Given the description of an element on the screen output the (x, y) to click on. 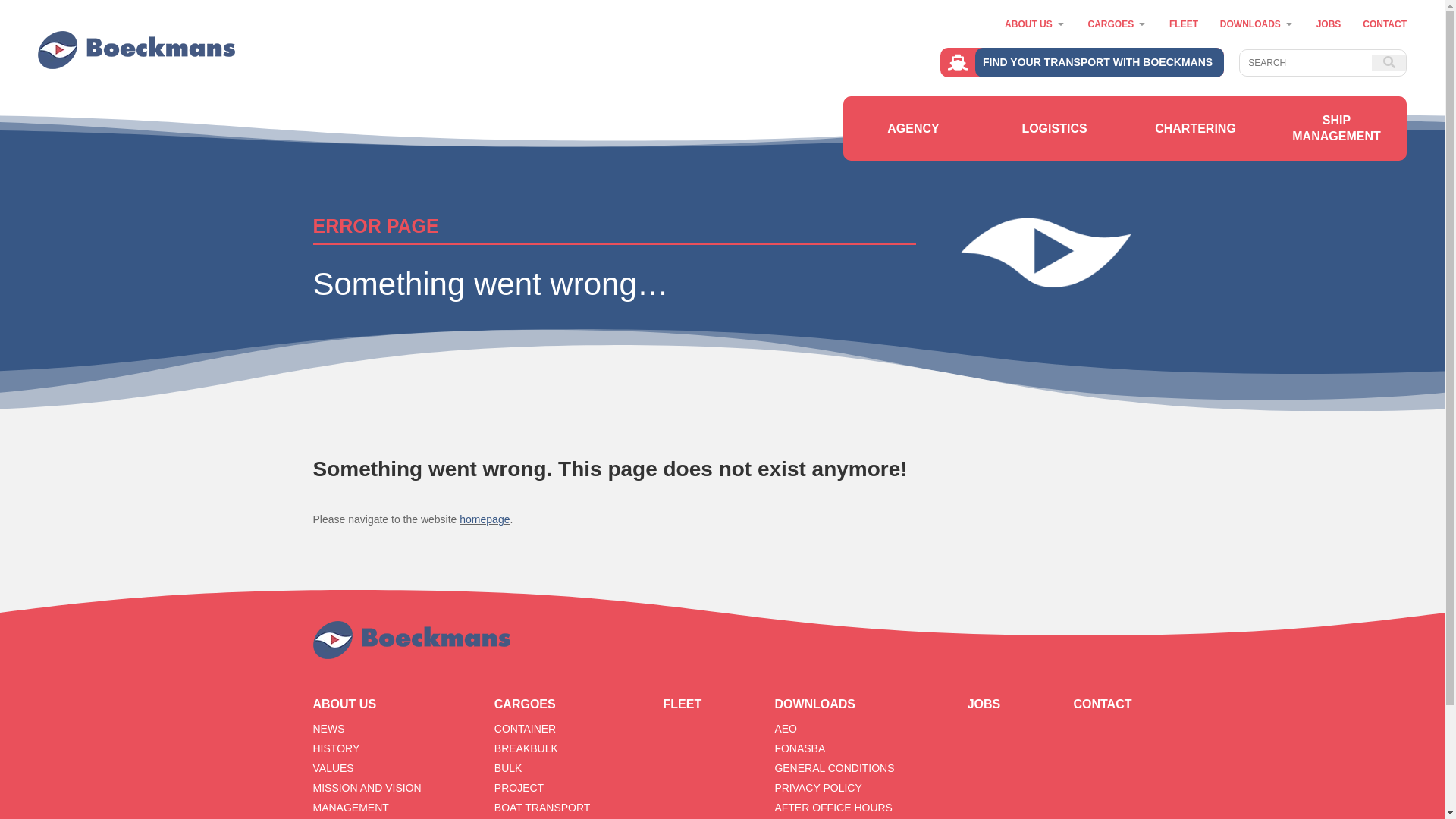
CARGOES Element type: text (1110, 23)
CONTACT Element type: text (1384, 23)
HISTORY Element type: text (335, 748)
GENERAL CONDITIONS Element type: text (834, 768)
LOGISTICS Element type: text (1054, 128)
BOAT TRANSPORT Element type: text (542, 807)
CONTACT Element type: text (1102, 707)
ABOUT US Element type: text (366, 707)
FONASBA Element type: text (799, 748)
DOWNLOADS Element type: text (1250, 23)
PRIVACY POLICY Element type: text (817, 787)
BULK Element type: text (508, 768)
PROJECT Element type: text (518, 787)
JOBS Element type: text (1328, 23)
ABOUT US Element type: text (1028, 23)
FIND YOUR TRANSPORT WITH BOECKMANS Element type: text (1081, 61)
CHARTERING Element type: text (1195, 128)
FLEET Element type: text (1183, 23)
DOWNLOADS Element type: text (834, 707)
SHIP MANAGEMENT Element type: text (1336, 128)
NEWS Element type: text (328, 728)
homepage Element type: text (484, 519)
MANAGEMENT Element type: text (350, 807)
FLEET Element type: text (682, 707)
VALUES Element type: text (332, 768)
CARGOES Element type: text (542, 707)
MISSION AND VISION Element type: text (366, 787)
CONTAINER Element type: text (524, 728)
BREAKBULK Element type: text (526, 748)
AFTER OFFICE HOURS Element type: text (833, 807)
AEO Element type: text (785, 728)
AGENCY Element type: text (913, 128)
JOBS Element type: text (984, 707)
